Given the description of an element on the screen output the (x, y) to click on. 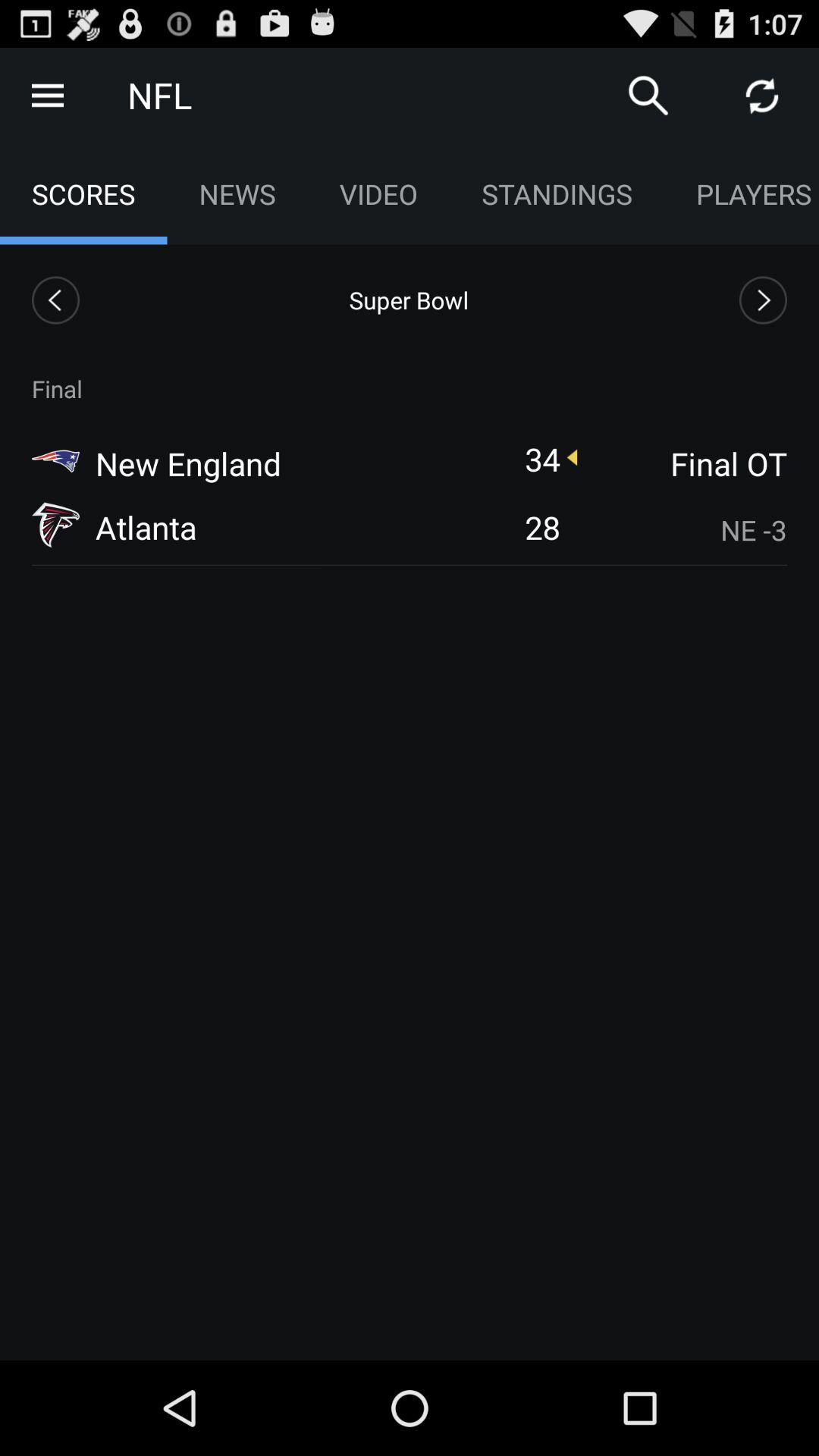
search application (648, 95)
